Given the description of an element on the screen output the (x, y) to click on. 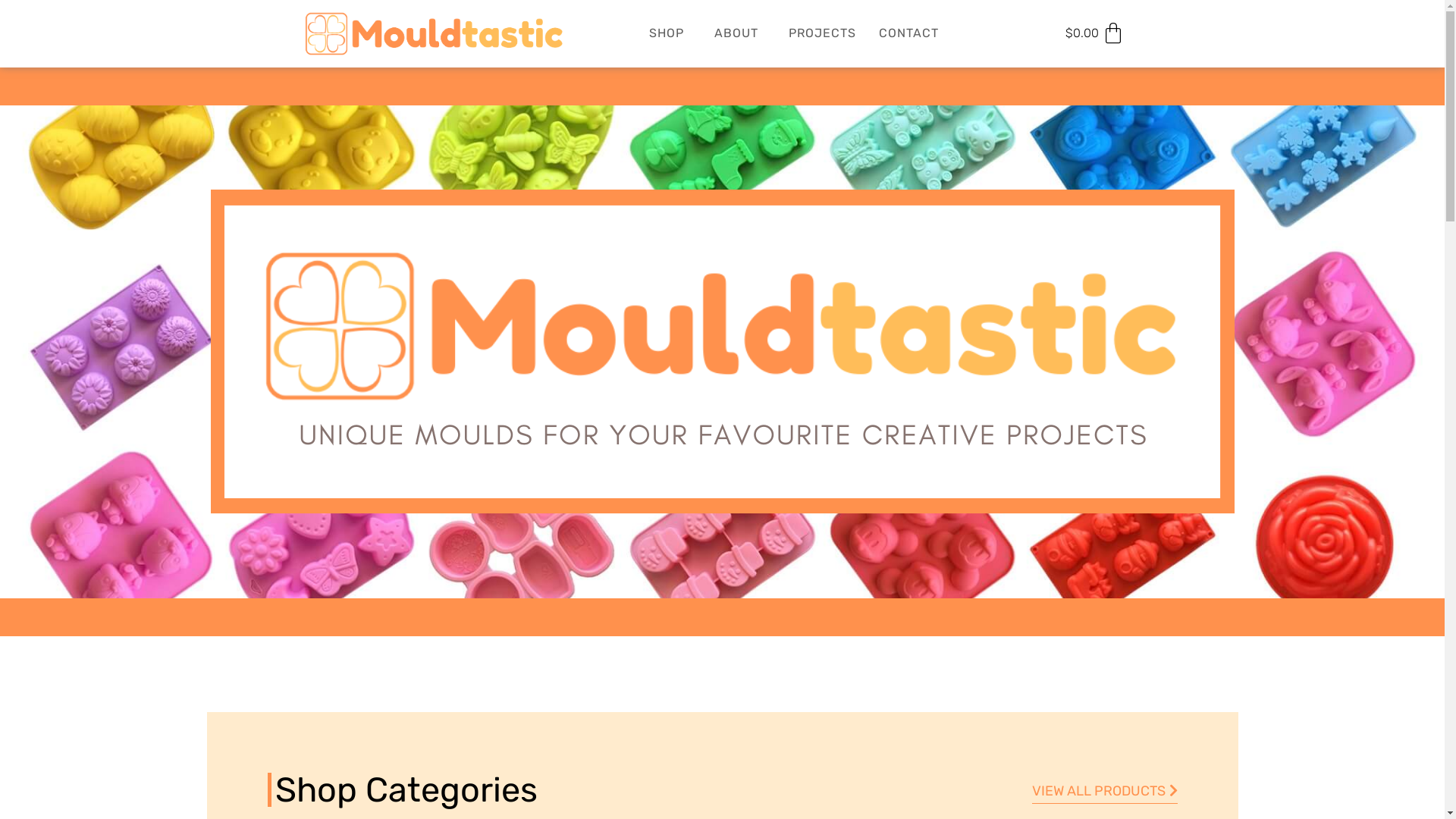
CONTACT Element type: text (908, 32)
PROJECTS Element type: text (822, 32)
VIEW ALL PRODUCTS Element type: text (1103, 791)
SHOP Element type: text (669, 32)
$0.00 Element type: text (1095, 33)
ABOUT Element type: text (739, 32)
